Given the description of an element on the screen output the (x, y) to click on. 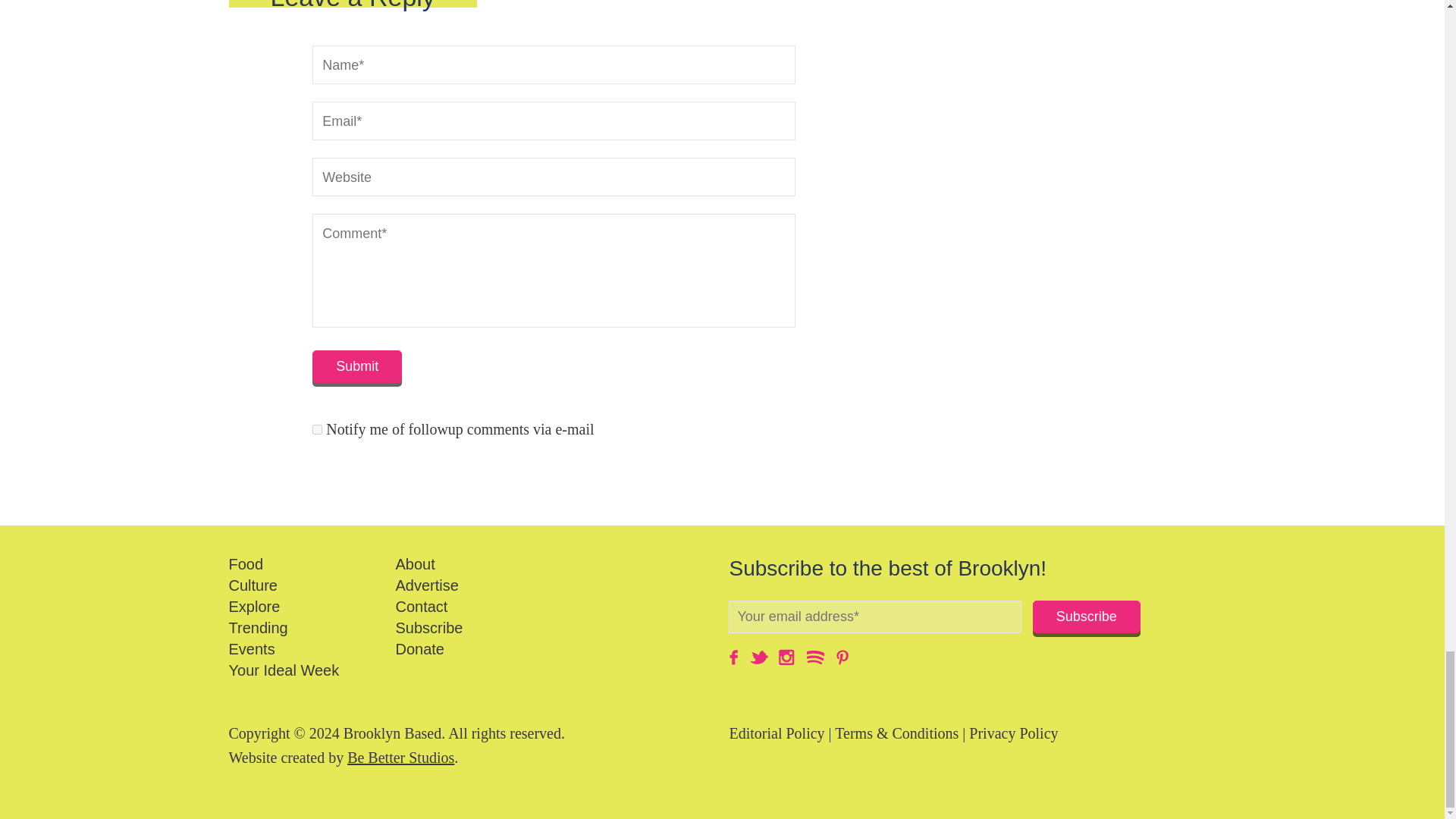
Submit (357, 366)
Food (245, 564)
subscribe (317, 429)
Explore (254, 606)
Subscribe (1086, 616)
Submit (357, 366)
Culture (253, 585)
